Given the description of an element on the screen output the (x, y) to click on. 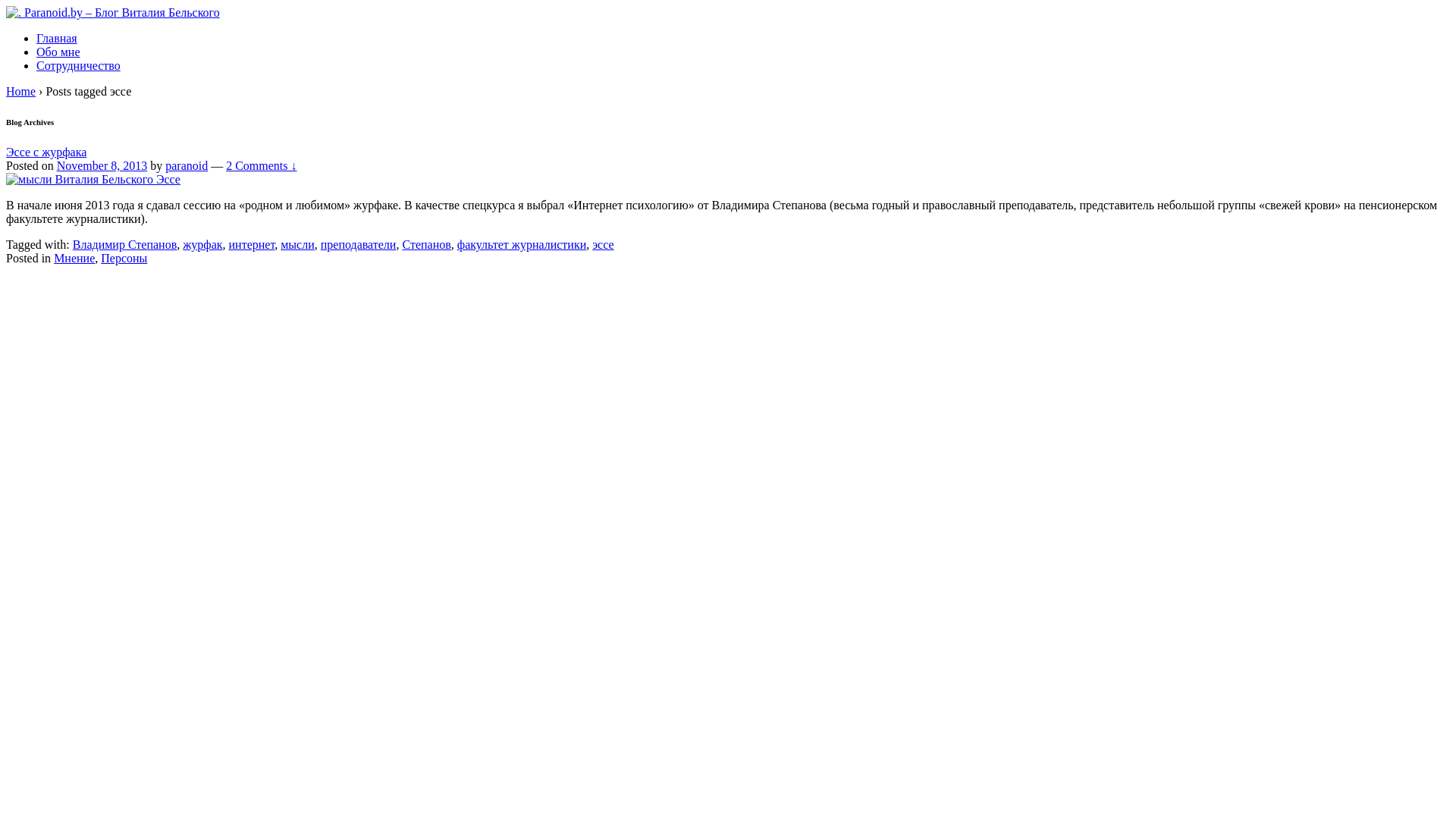
November 8, 2013 Element type: text (101, 165)
Home Element type: text (20, 90)
paranoid Element type: text (186, 165)
